Given the description of an element on the screen output the (x, y) to click on. 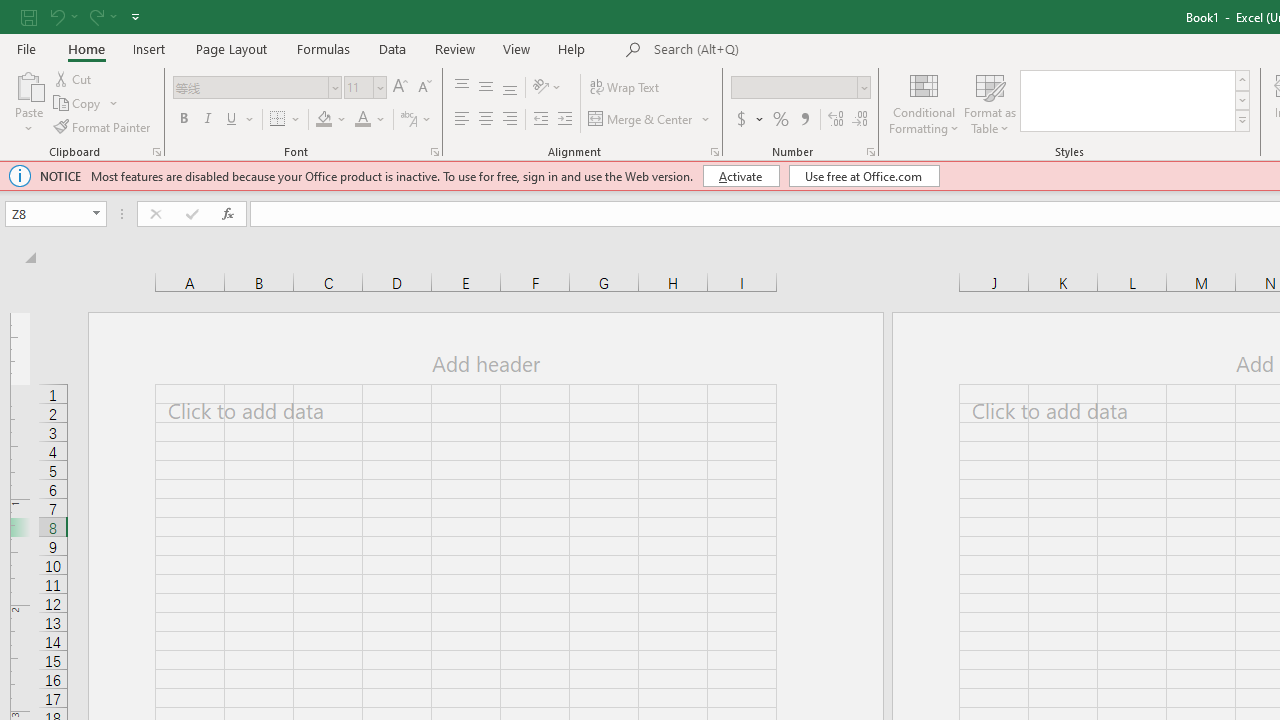
Office Clipboard... (156, 151)
Bottom Align (509, 87)
Middle Align (485, 87)
Wrap Text (624, 87)
Italic (207, 119)
Center (485, 119)
Paste (28, 102)
Increase Decimal (836, 119)
Increase Indent (565, 119)
Cut (73, 78)
